Given the description of an element on the screen output the (x, y) to click on. 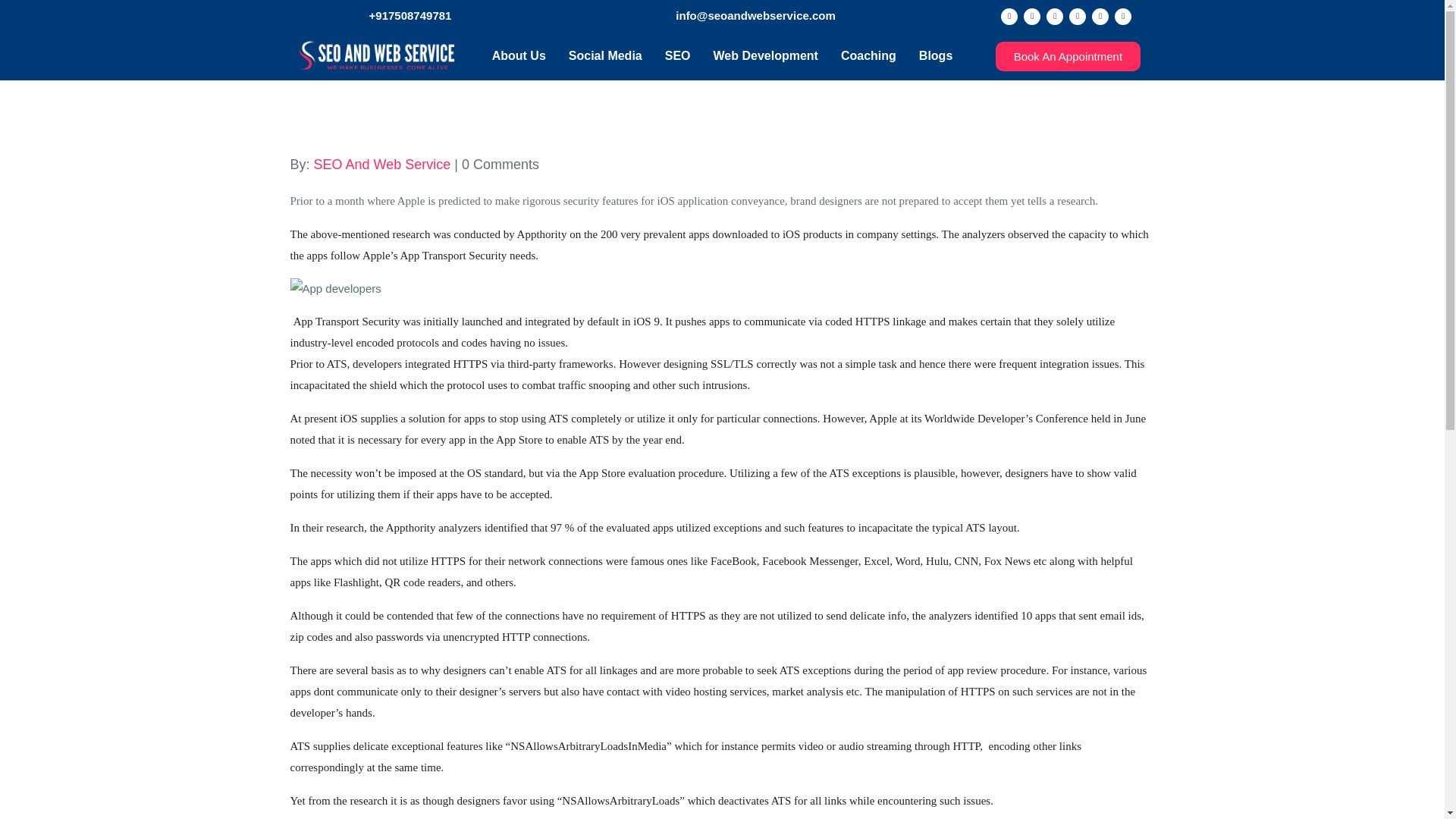
SEO And Web Service (382, 163)
Book An Appointment (1067, 55)
Coaching (868, 55)
Blogs (935, 55)
Social Media (605, 55)
Web Development (765, 55)
About Us (518, 55)
SEO (677, 55)
App developers (721, 288)
